Given the description of an element on the screen output the (x, y) to click on. 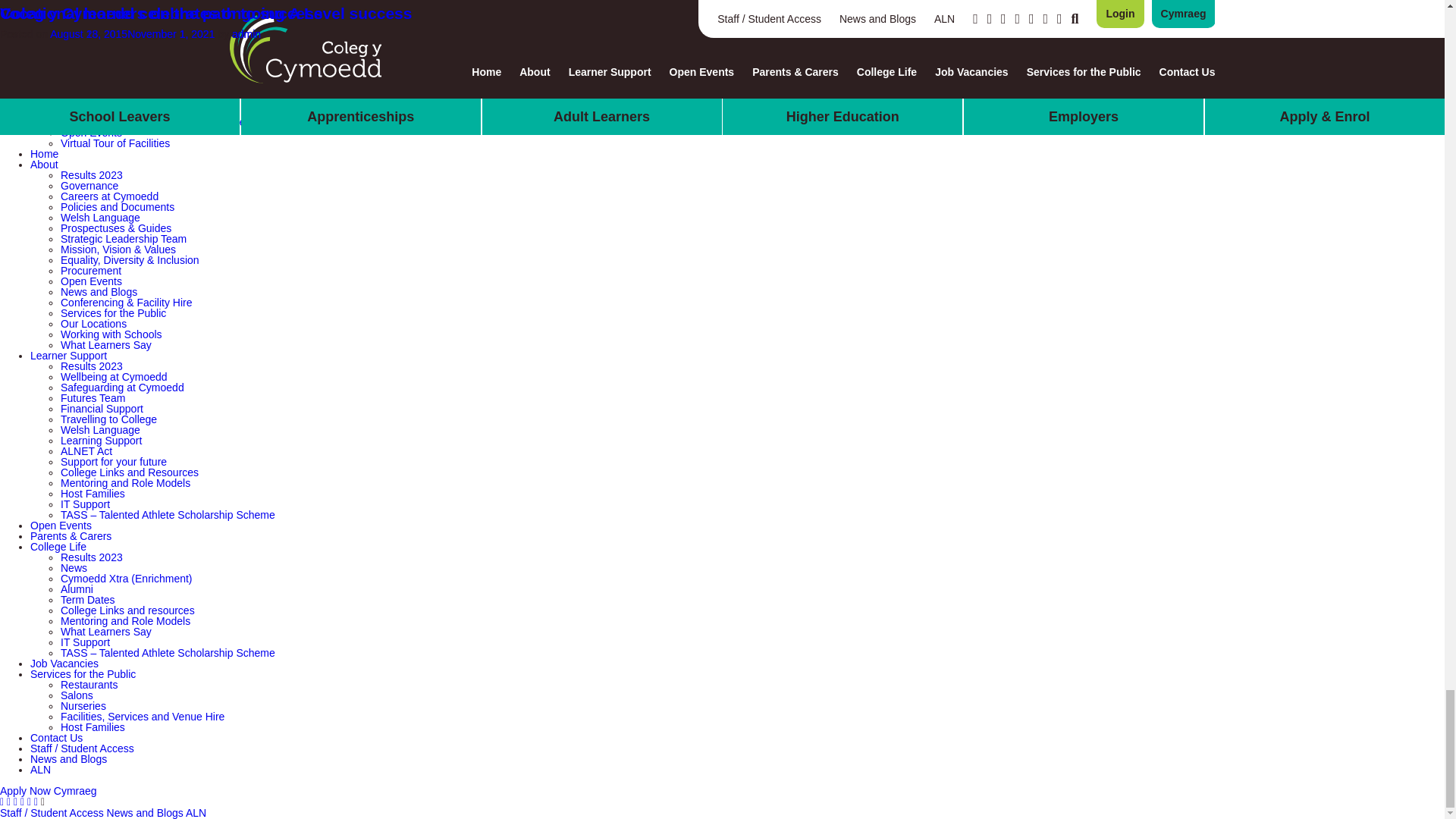
Iaith Newid (75, 790)
Apply Now (25, 790)
